Given the description of an element on the screen output the (x, y) to click on. 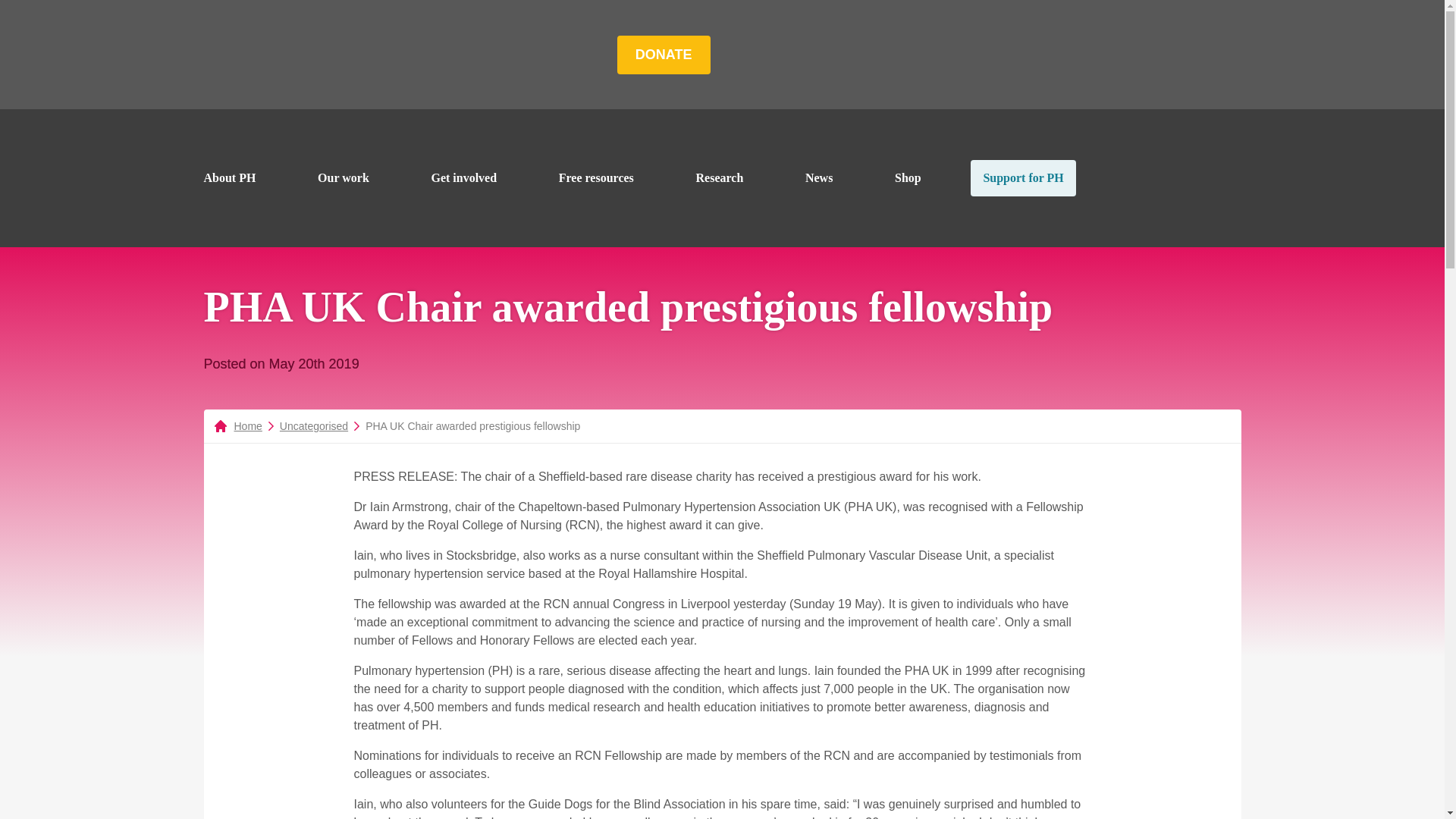
Home (284, 54)
DONATE (663, 54)
About PH (228, 177)
